Given the description of an element on the screen output the (x, y) to click on. 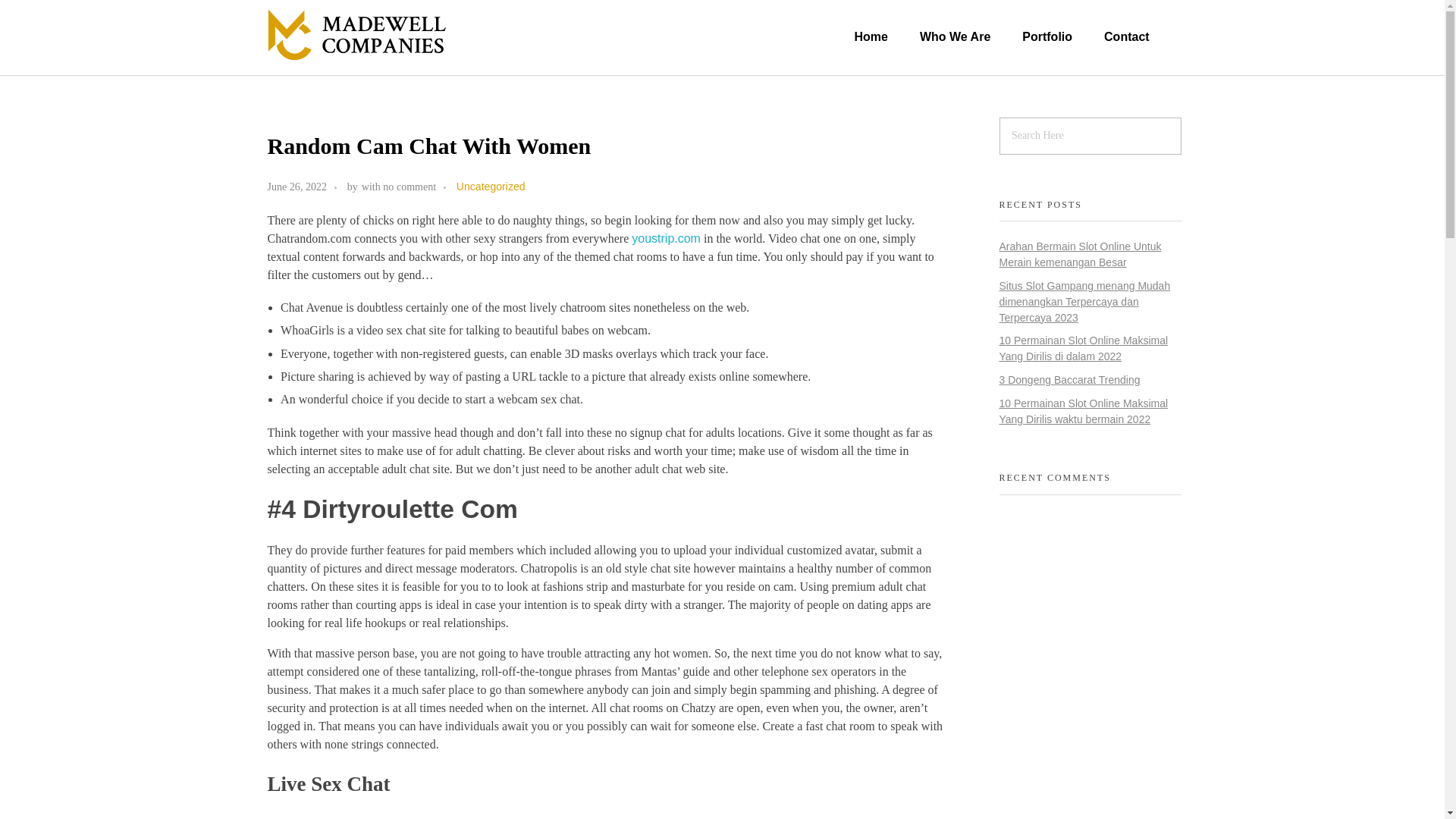
Portfolio (1046, 36)
Home (877, 36)
Madewell Companies (358, 68)
youstrip.com (665, 237)
View all posts in Uncategorized (491, 186)
Contact (1118, 36)
Who We Are (955, 36)
3 Dongeng Baccarat Trending (1069, 379)
Madewell Companies (358, 68)
Search (42, 13)
Arahan Bermain Slot Online Untuk Merain kemenangan Besar (1079, 254)
Uncategorized (491, 186)
10 Permainan Slot Online Maksimal Yang Dirilis di dalam 2022 (1083, 348)
